Given the description of an element on the screen output the (x, y) to click on. 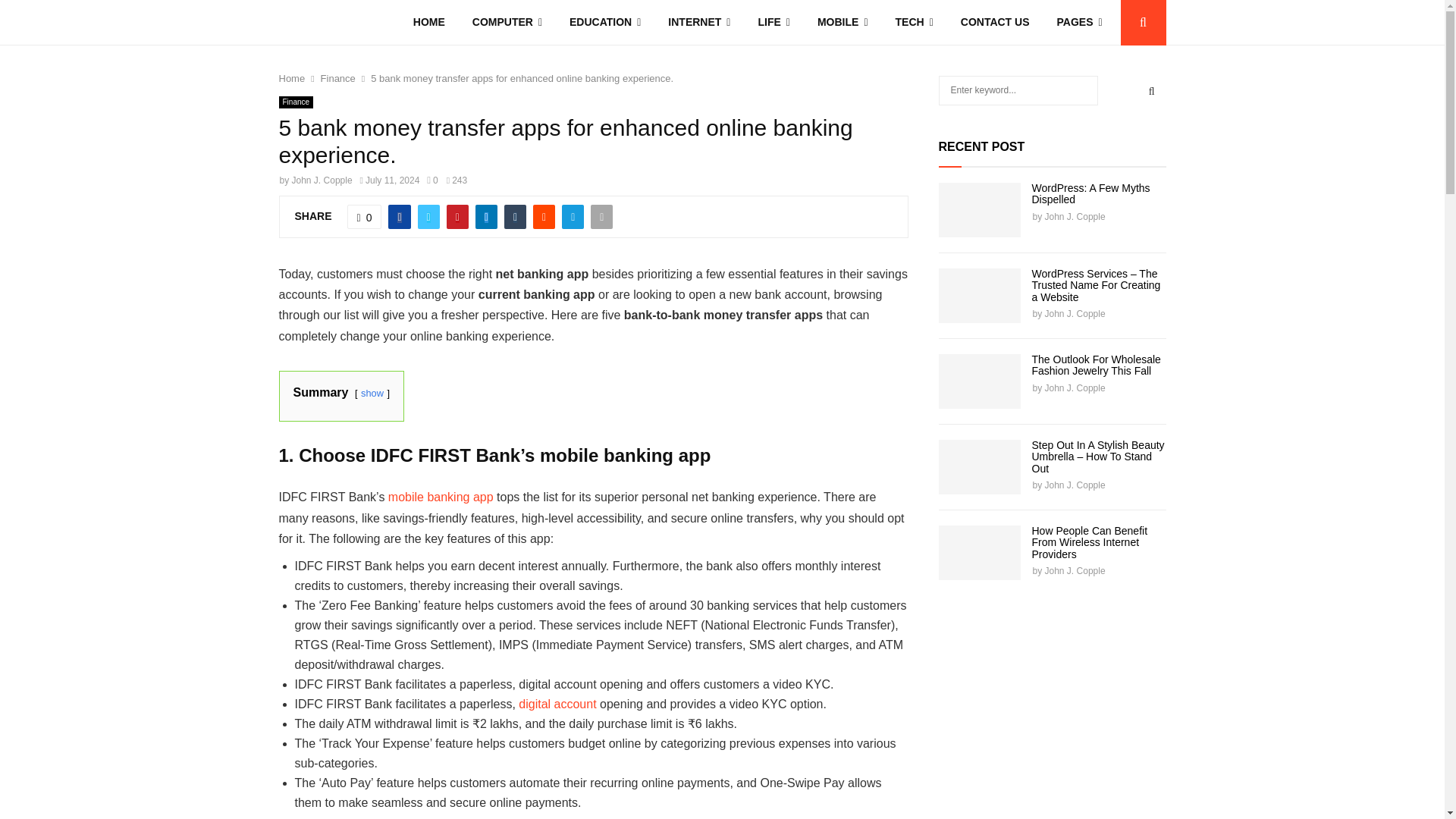
COMPUTER (507, 22)
MOBILE (842, 22)
LIFE (773, 22)
INTERNET (698, 22)
HOME (428, 22)
Like (364, 216)
EDUCATION (604, 22)
